Given the description of an element on the screen output the (x, y) to click on. 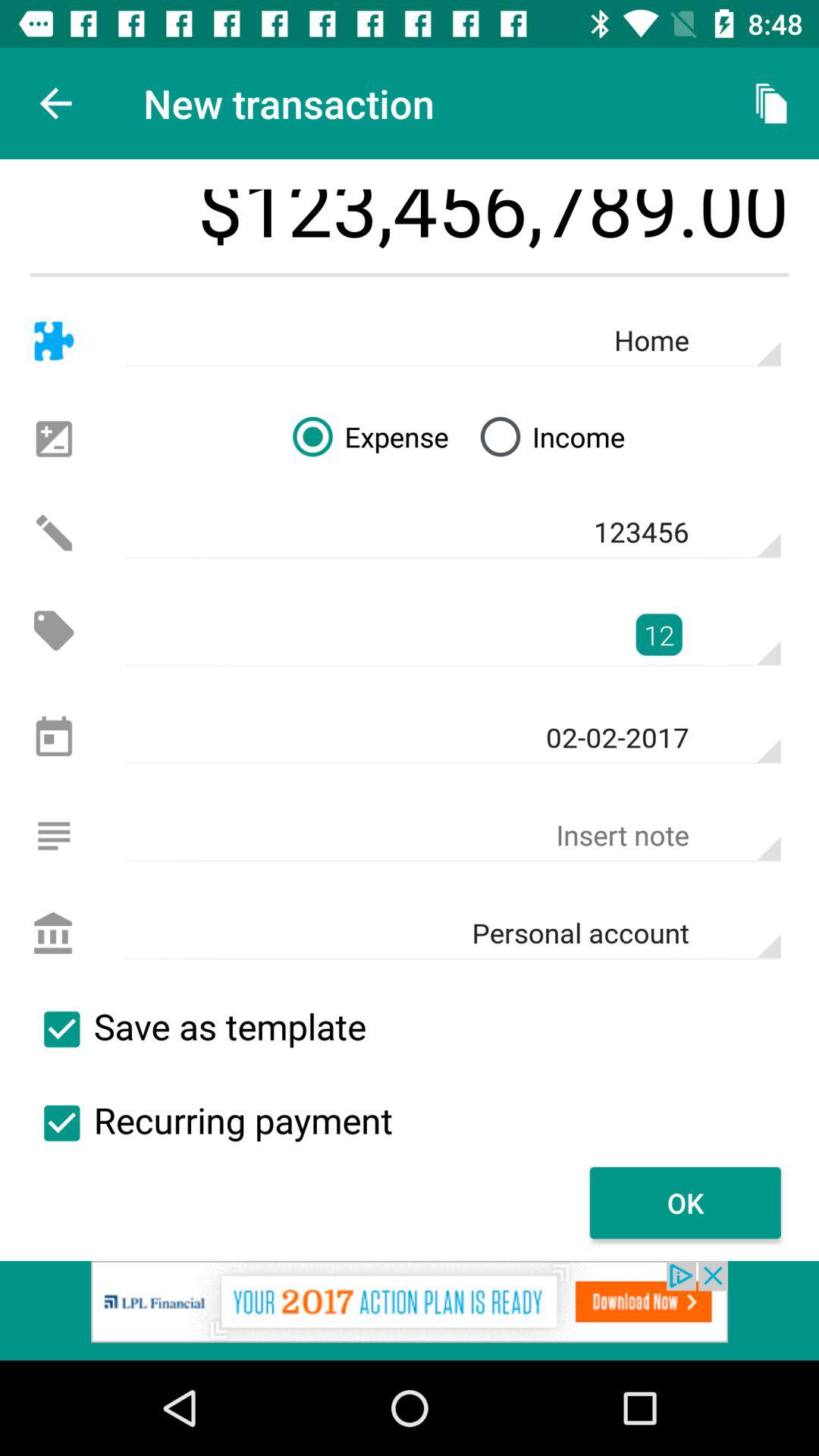
access expenses (53, 630)
